Given the description of an element on the screen output the (x, y) to click on. 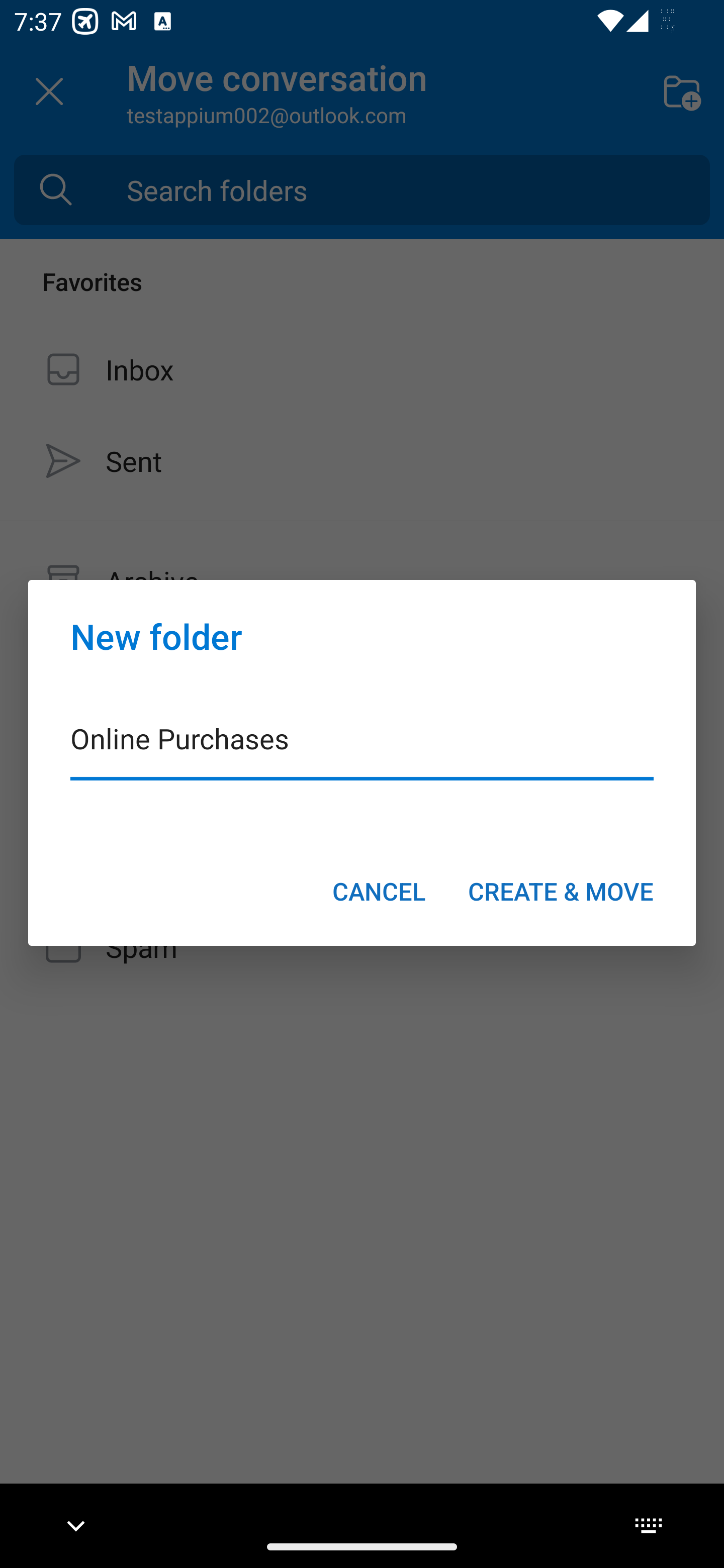
Online Purchases (361, 750)
CANCEL (378, 891)
CREATE & MOVE (560, 891)
